Given the description of an element on the screen output the (x, y) to click on. 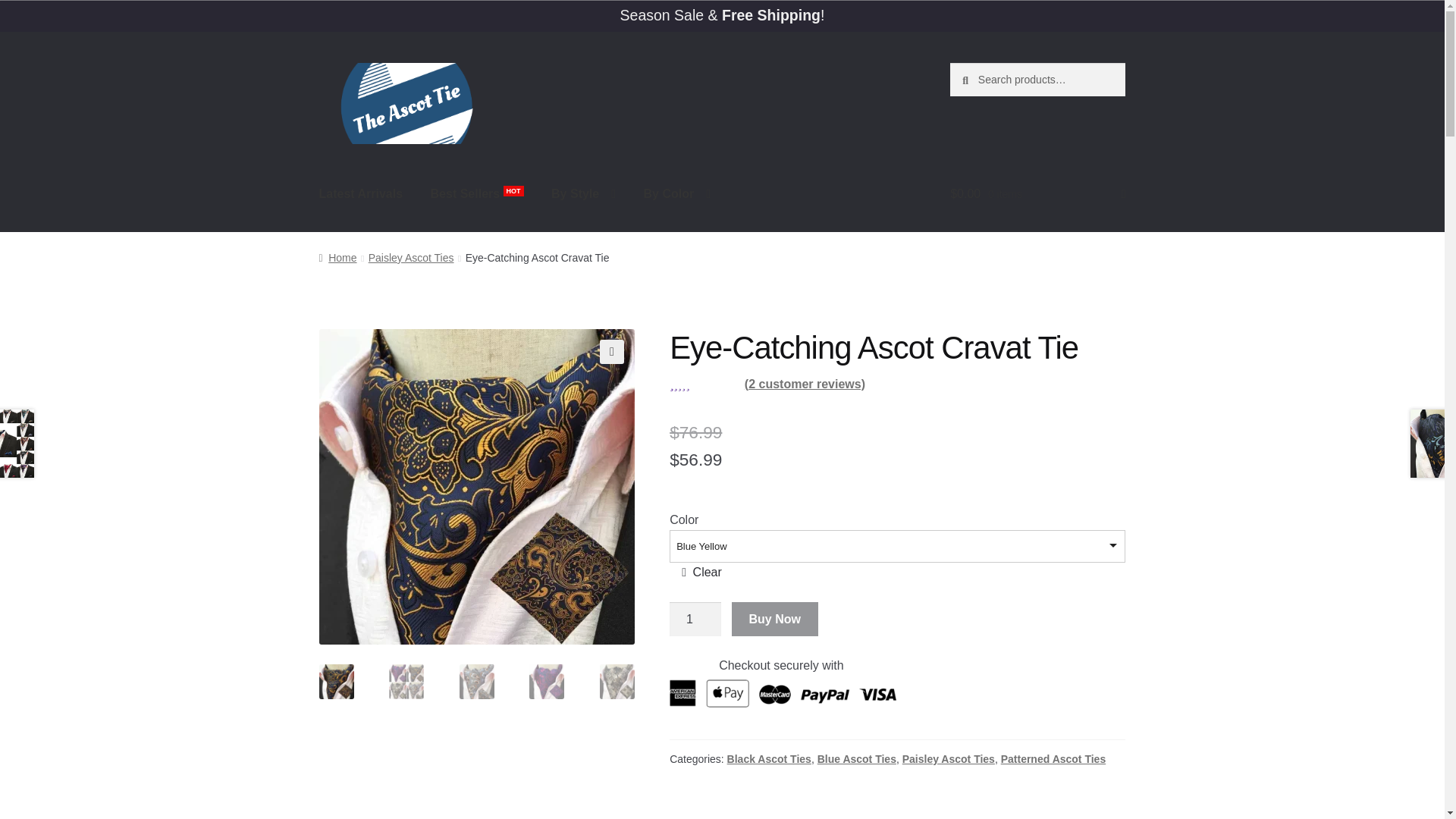
1 (694, 619)
Latest Arrivals (360, 193)
By Color (676, 193)
View your shopping cart (1037, 193)
Best Sellers HOT (477, 193)
Home (337, 257)
By Style (582, 193)
Paisley Ascot Ties (411, 257)
